Given the description of an element on the screen output the (x, y) to click on. 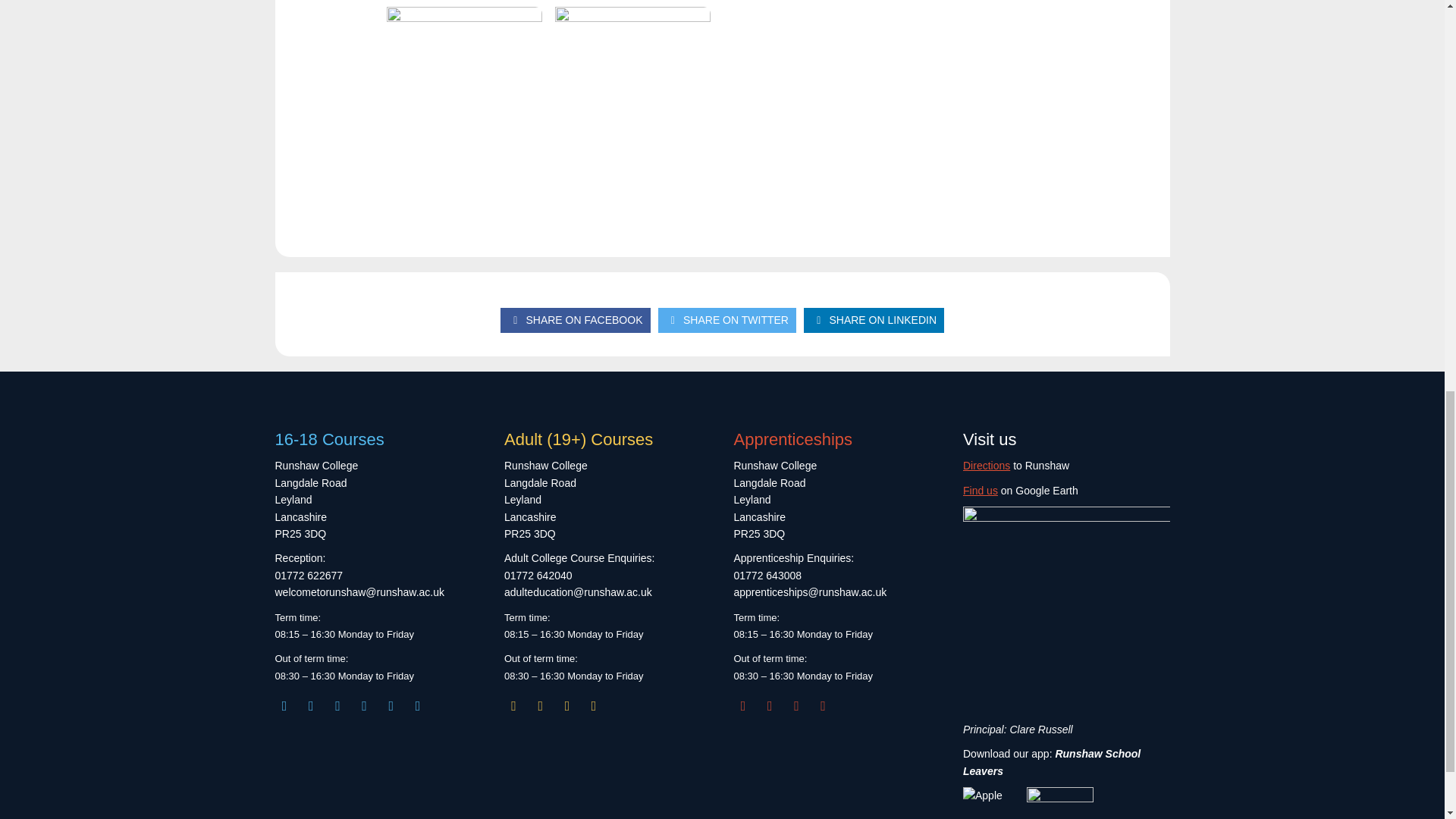
runshawcollege 16-18 Campus twitter-x (364, 705)
16-18 Campus (378, 706)
runshawcollege 16-18 Campus instagram (284, 705)
RunshawCollegeSFC 16-18 Campus facebook (310, 705)
Runshaw College 16-18 Campus linkedin (338, 705)
RunshawCollege 16-18 Campus youtube-play (390, 705)
Runshaw College 16-18 Campus vimeo (416, 705)
